Given the description of an element on the screen output the (x, y) to click on. 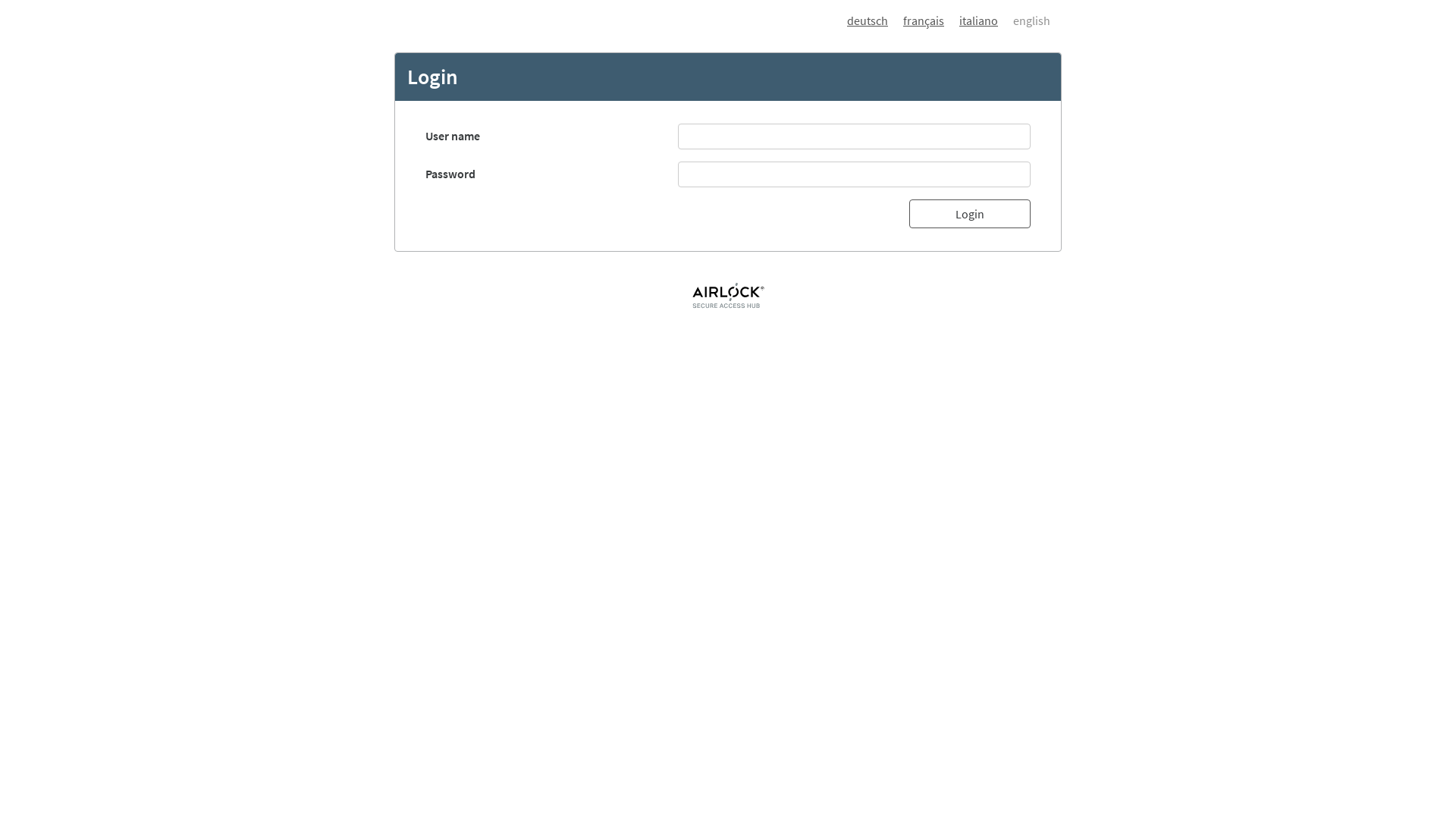
italiano Element type: text (970, 20)
deutsch Element type: text (867, 20)
Login Element type: text (969, 213)
english Element type: text (1023, 20)
